Given the description of an element on the screen output the (x, y) to click on. 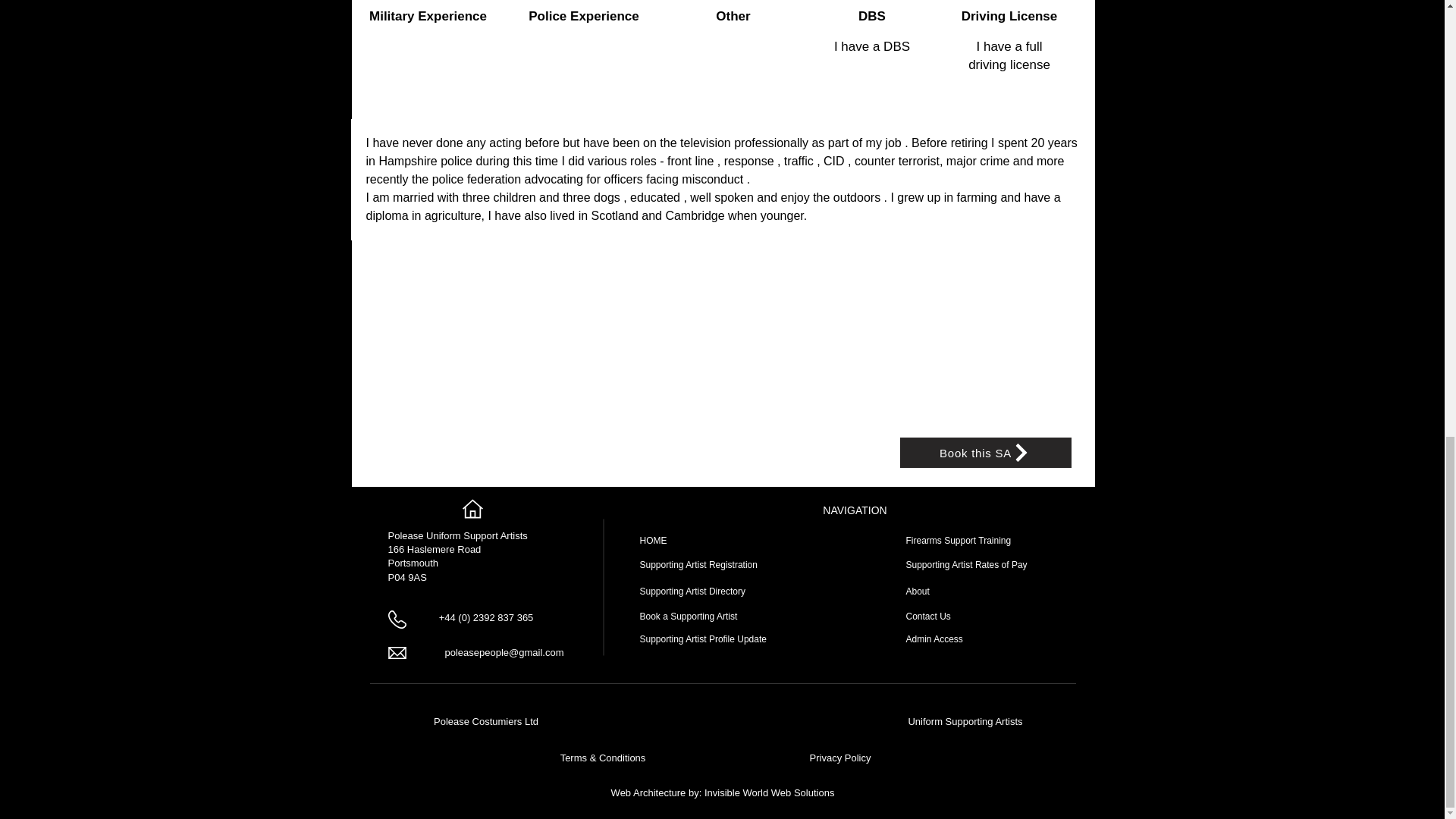
Admin Access (933, 638)
Supporting Artist Profile Update (703, 638)
Privacy Policy (839, 757)
Firearms Support Training (957, 540)
Book a Supporting Artist (689, 615)
Contact Us (927, 615)
Web Architecture by: Invisible World Web Solutions (722, 792)
About (916, 591)
Supporting Artist Rates of Pay (965, 564)
Polease Costumiers Ltd (485, 721)
Book this SA (984, 452)
Supporting Artist Registration (698, 564)
HOME (653, 540)
Supporting Artist Directory (692, 591)
